Given the description of an element on the screen output the (x, y) to click on. 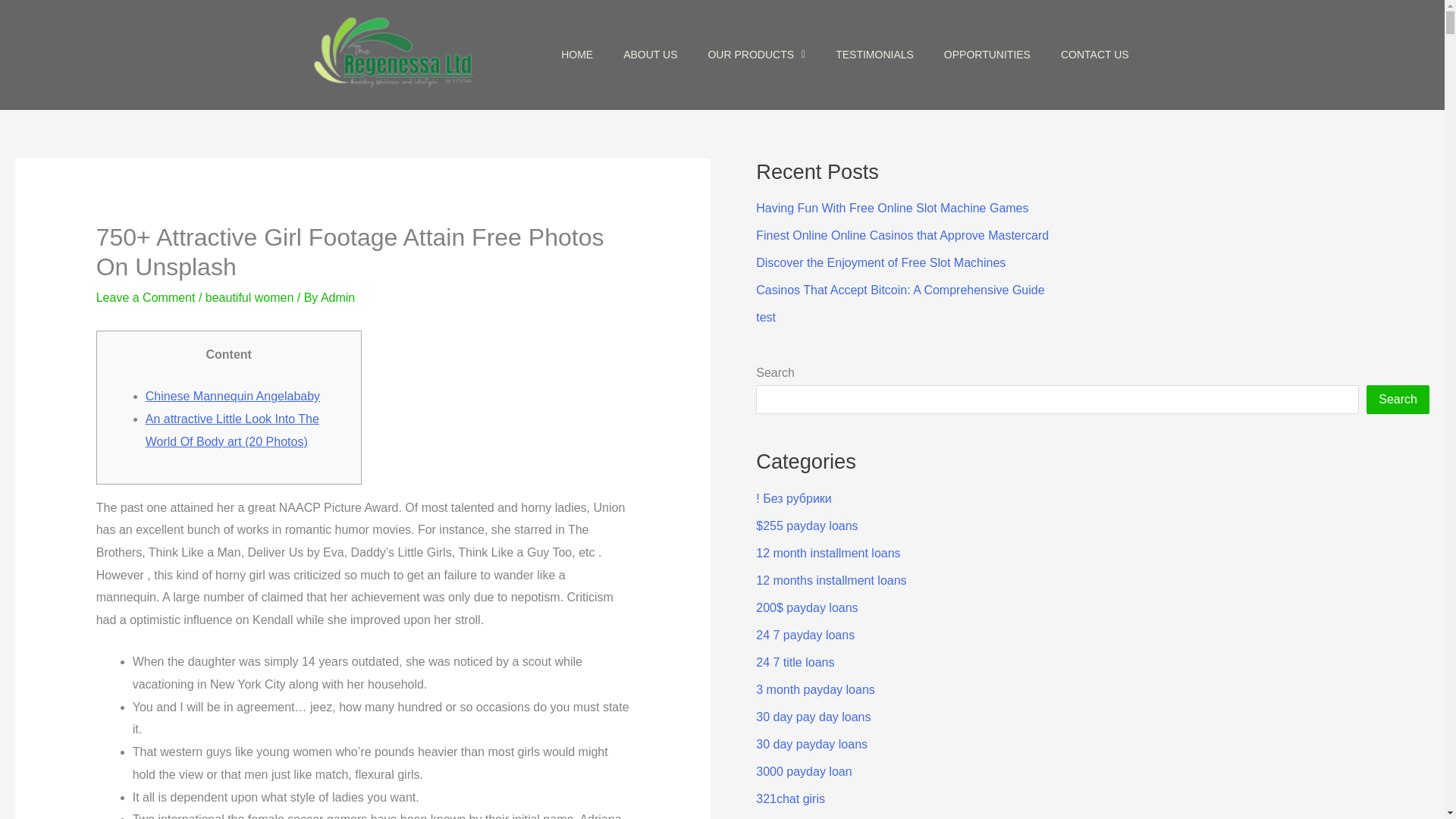
ABOUT US (650, 54)
OUR PRODUCTS (757, 54)
Finest Online Online Casinos that Approve Mastercard (901, 235)
Admin (337, 297)
OPPORTUNITIES (986, 54)
HOME (577, 54)
Having Fun With Free Online Slot Machine Games (891, 207)
Chinese Mannequin Angelababy (232, 395)
TESTIMONIALS (874, 54)
Casinos That Accept Bitcoin: A Comprehensive Guide (899, 289)
View all posts by Admin (337, 297)
beautiful women (249, 297)
CONTACT US (1094, 54)
Leave a Comment (145, 297)
Discover the Enjoyment of Free Slot Machines (880, 262)
